Given the description of an element on the screen output the (x, y) to click on. 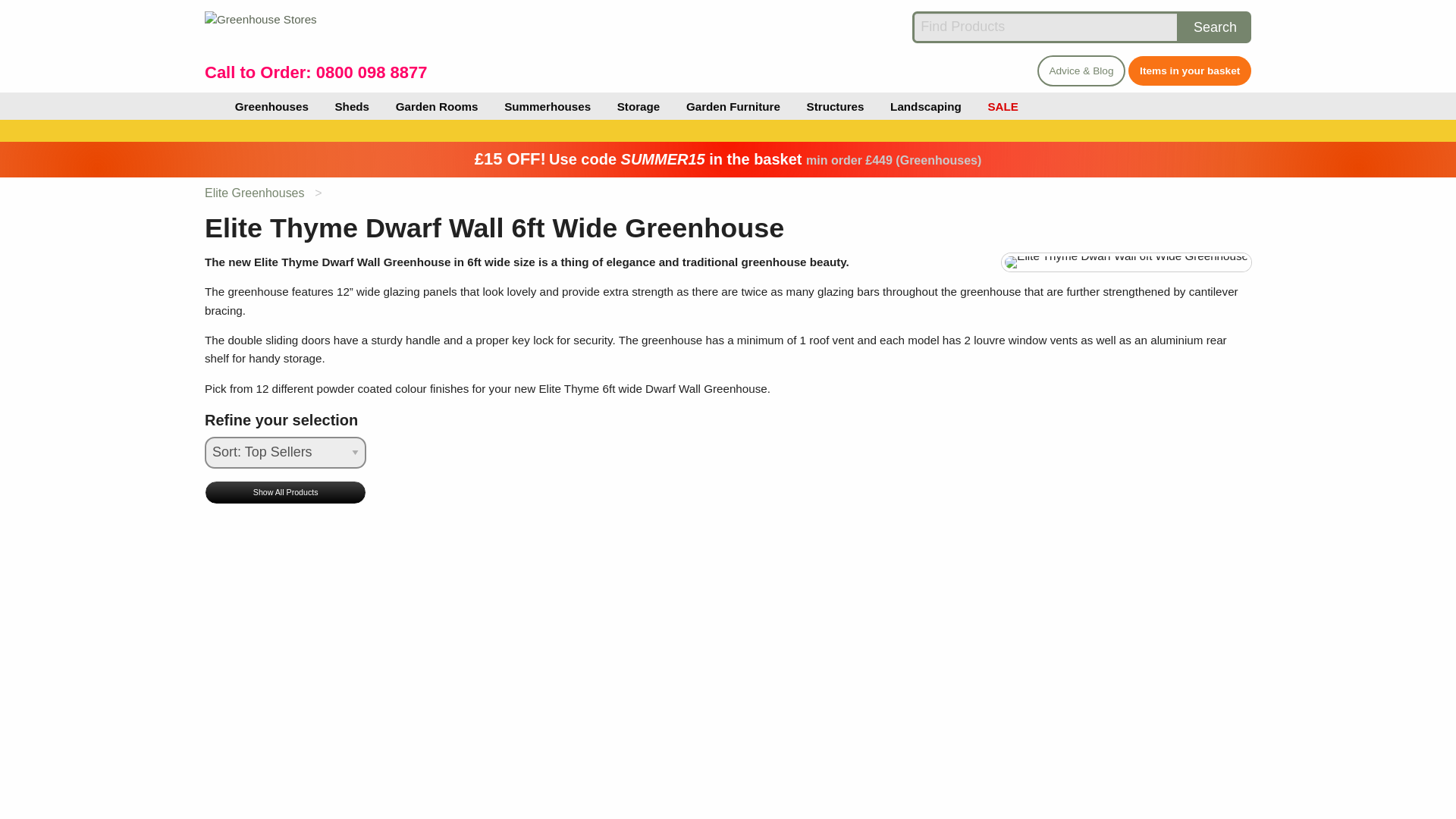
Sheds (351, 105)
Search (1214, 27)
Structures (834, 105)
Items in your basket (1189, 70)
Garden Furniture (733, 105)
Greenhouses (272, 105)
Storage (638, 105)
Summerhouses (547, 105)
Garden Rooms (436, 105)
